Given the description of an element on the screen output the (x, y) to click on. 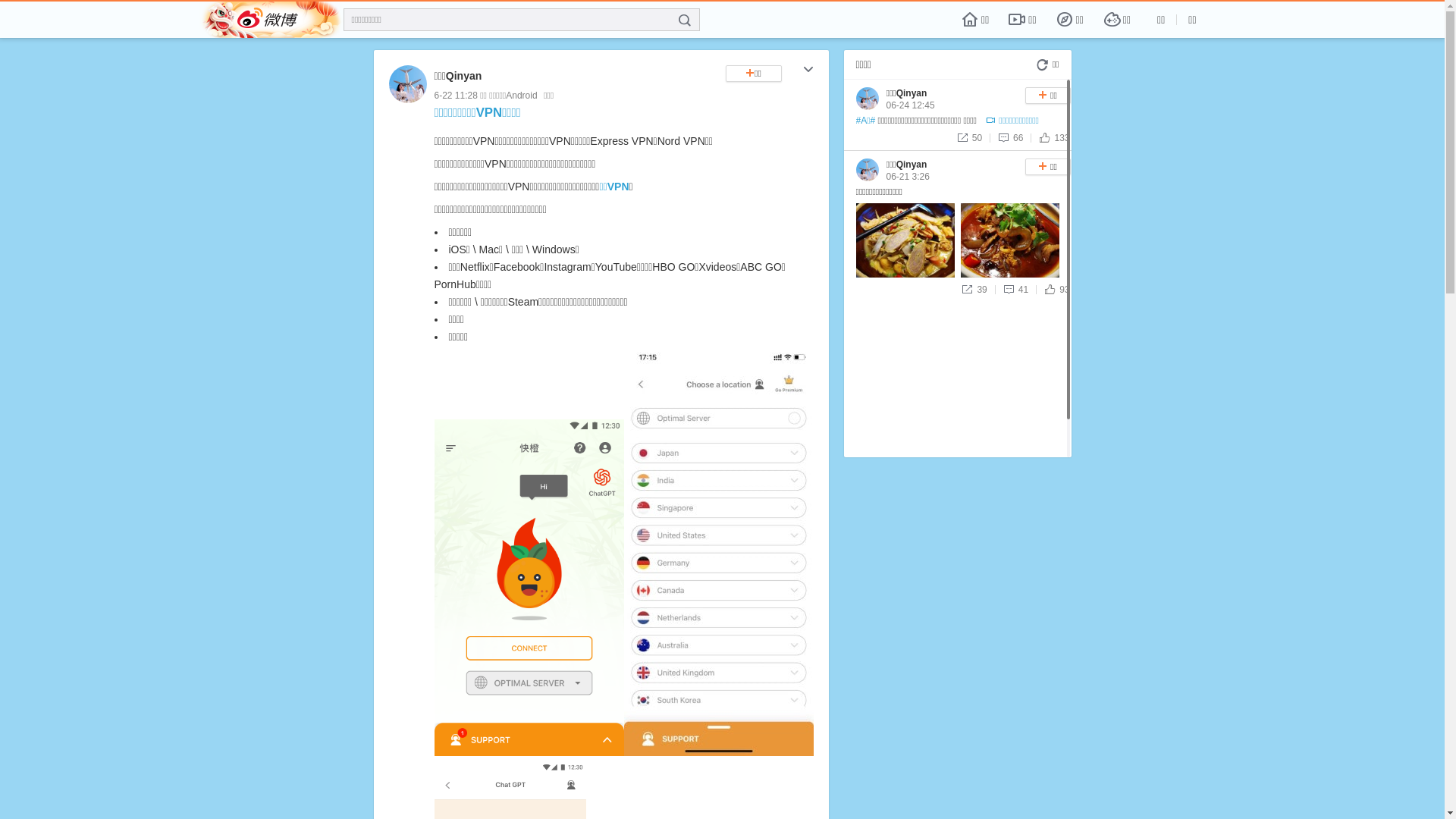
c Element type: text (808, 70)
6-22 11:28 Element type: text (454, 95)
06-24 12:45 Element type: text (909, 105)
f Element type: text (684, 20)
06-21 3:26 Element type: text (906, 176)
